Given the description of an element on the screen output the (x, y) to click on. 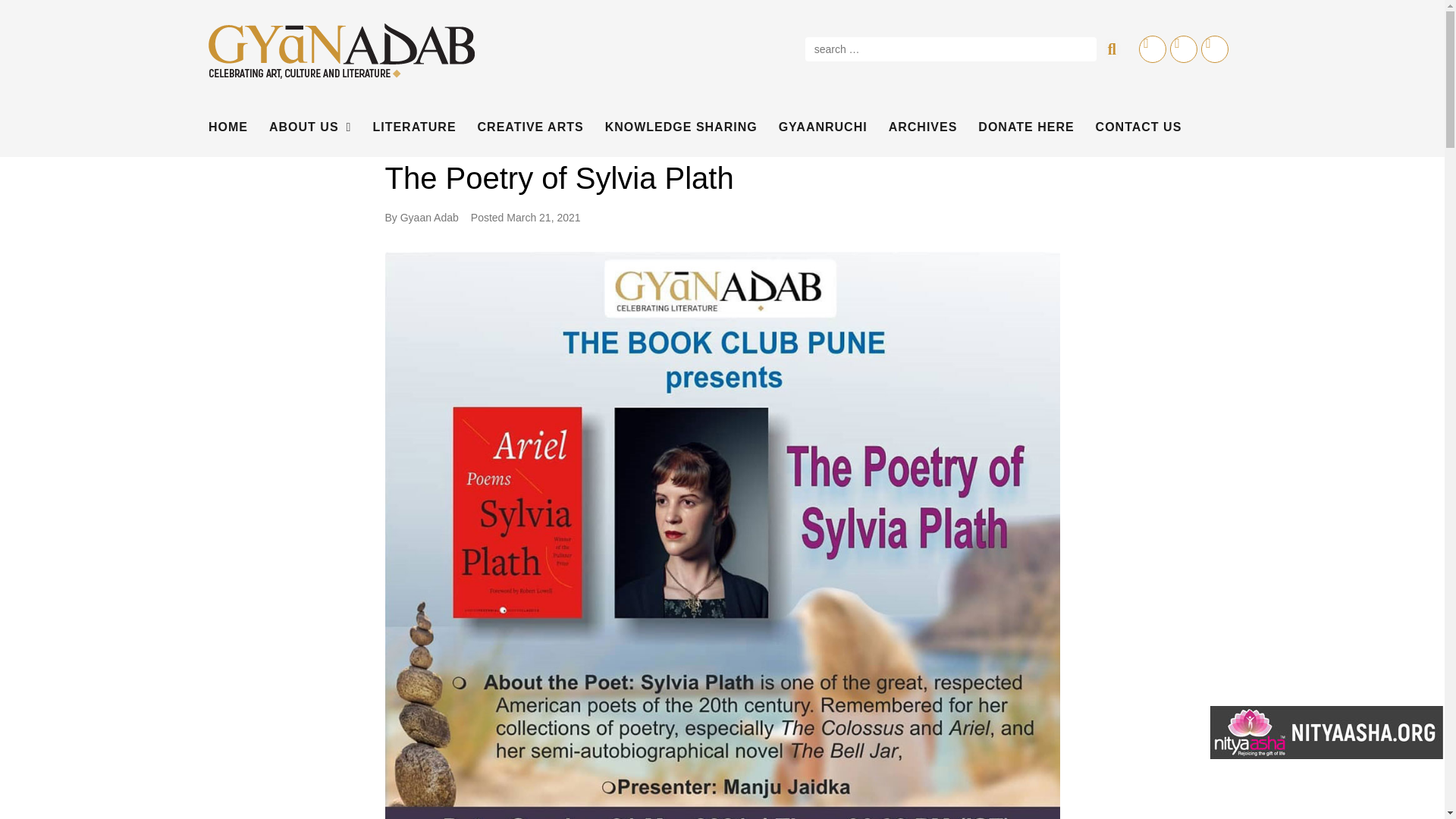
KNOWLEDGE SHARING (681, 127)
HOME (227, 127)
ARCHIVES (923, 127)
CREATIVE ARTS (530, 127)
ABOUT US (309, 127)
Gyaan Adab (429, 217)
GYAANRUCHI (822, 127)
LITERATURE (413, 127)
CONTACT US (1139, 127)
DONATE HERE (1026, 127)
